Given the description of an element on the screen output the (x, y) to click on. 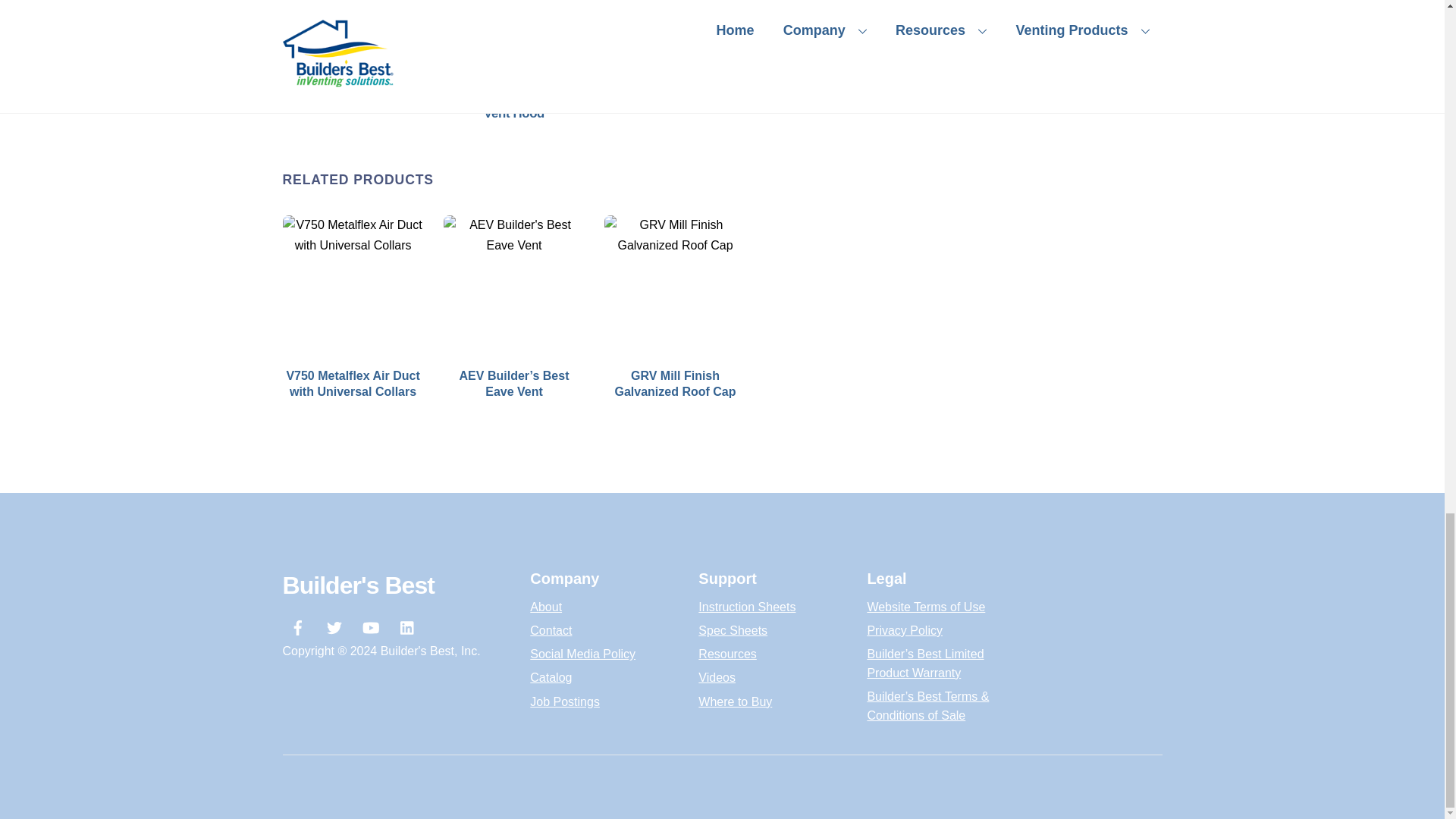
Roof-GRV624-4in-11756-collar (674, 285)
Duct-UL-V750-universal-collars-sq.jpg (352, 285)
PWM620 wide mouth hood with tail (352, 30)
